Given the description of an element on the screen output the (x, y) to click on. 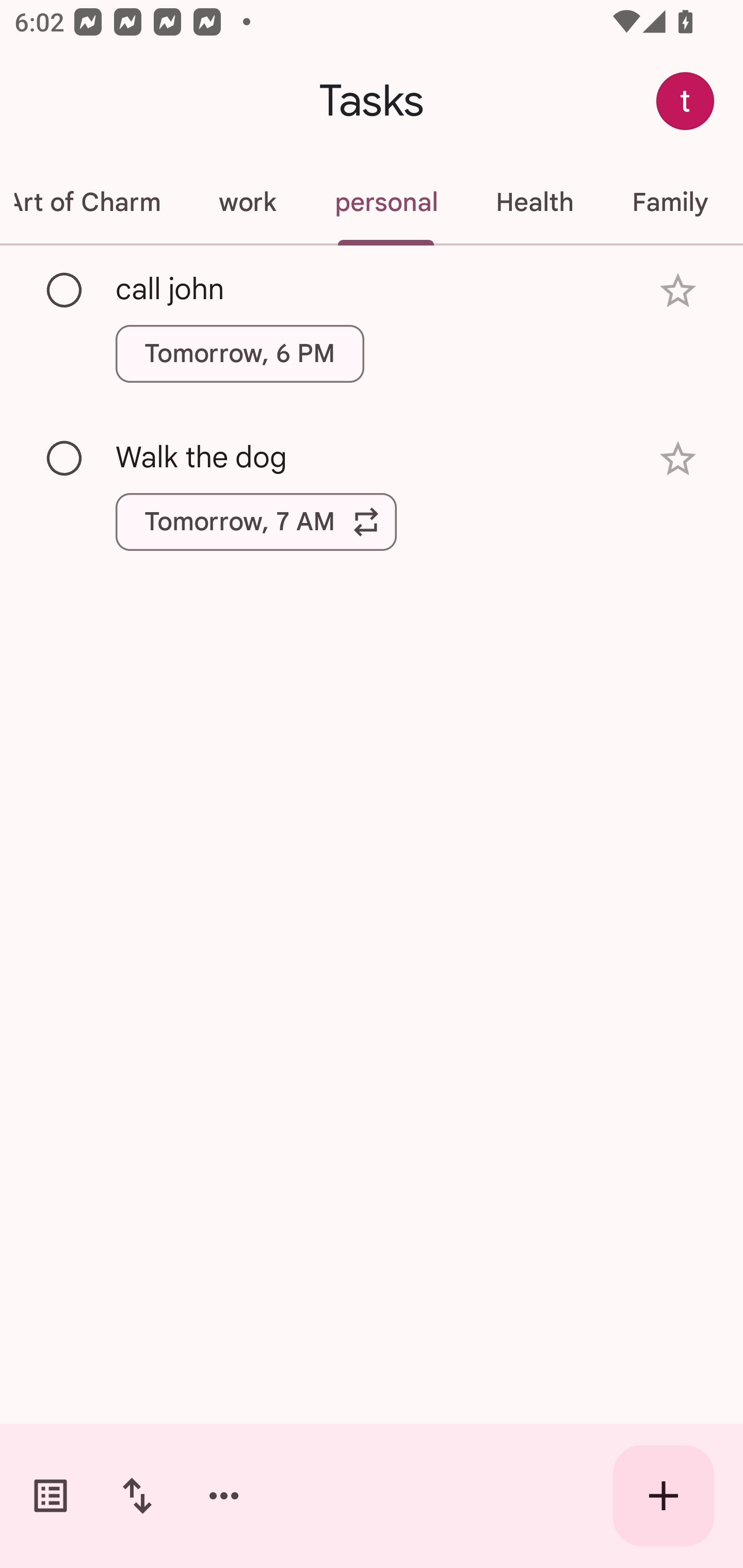
The Art of Charm (94, 202)
work (247, 202)
Health (534, 202)
Family (669, 202)
Add star (677, 290)
Mark as complete (64, 290)
Tomorrow, 6 PM (239, 353)
Add star (677, 458)
Mark as complete (64, 459)
Tomorrow, 7 AM (255, 522)
Switch task lists (50, 1495)
Create new task (663, 1495)
Change sort order (136, 1495)
More options (223, 1495)
